Given the description of an element on the screen output the (x, y) to click on. 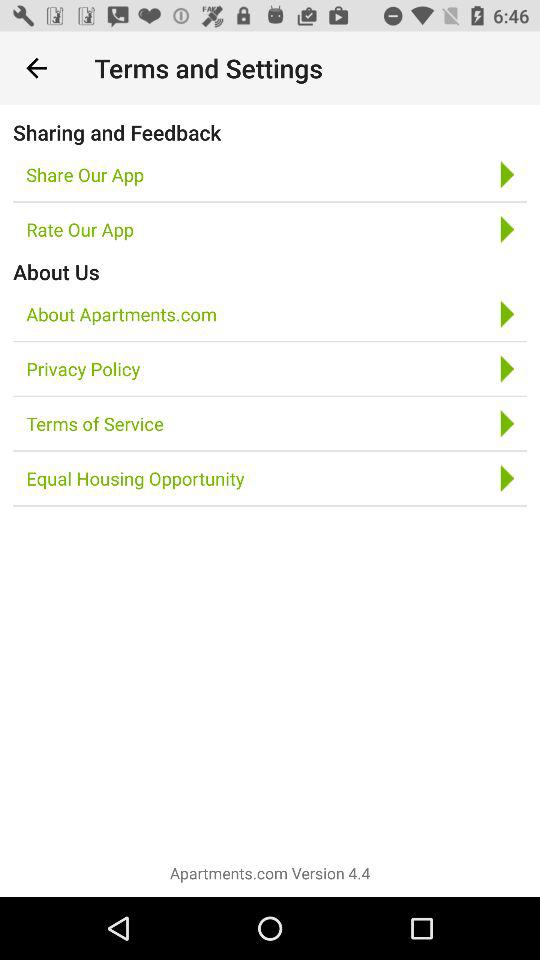
jump to the equal housing opportunity (135, 478)
